Given the description of an element on the screen output the (x, y) to click on. 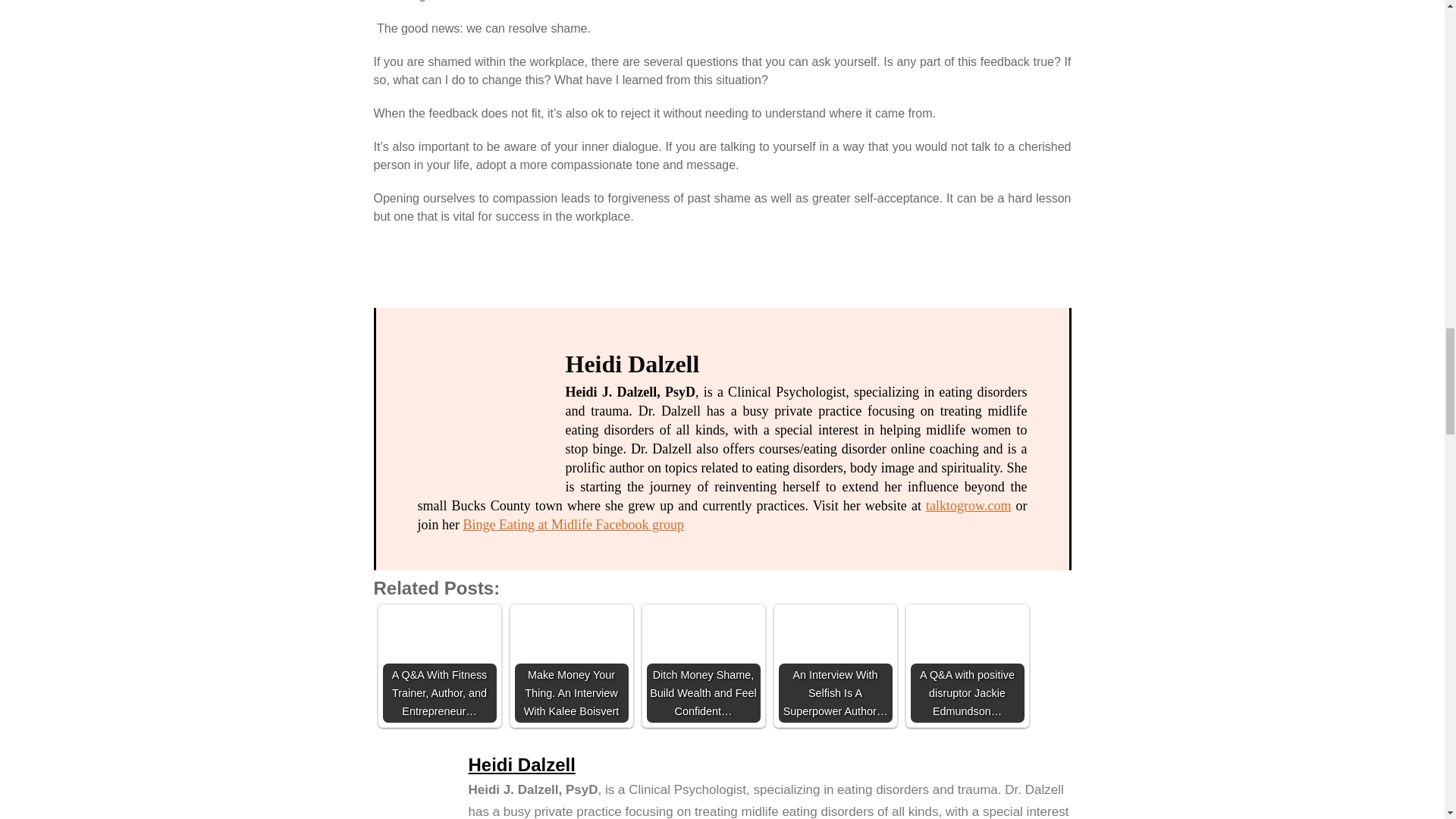
Make Money Your Thing. An Interview With Kalee Boisvert (570, 665)
